Given the description of an element on the screen output the (x, y) to click on. 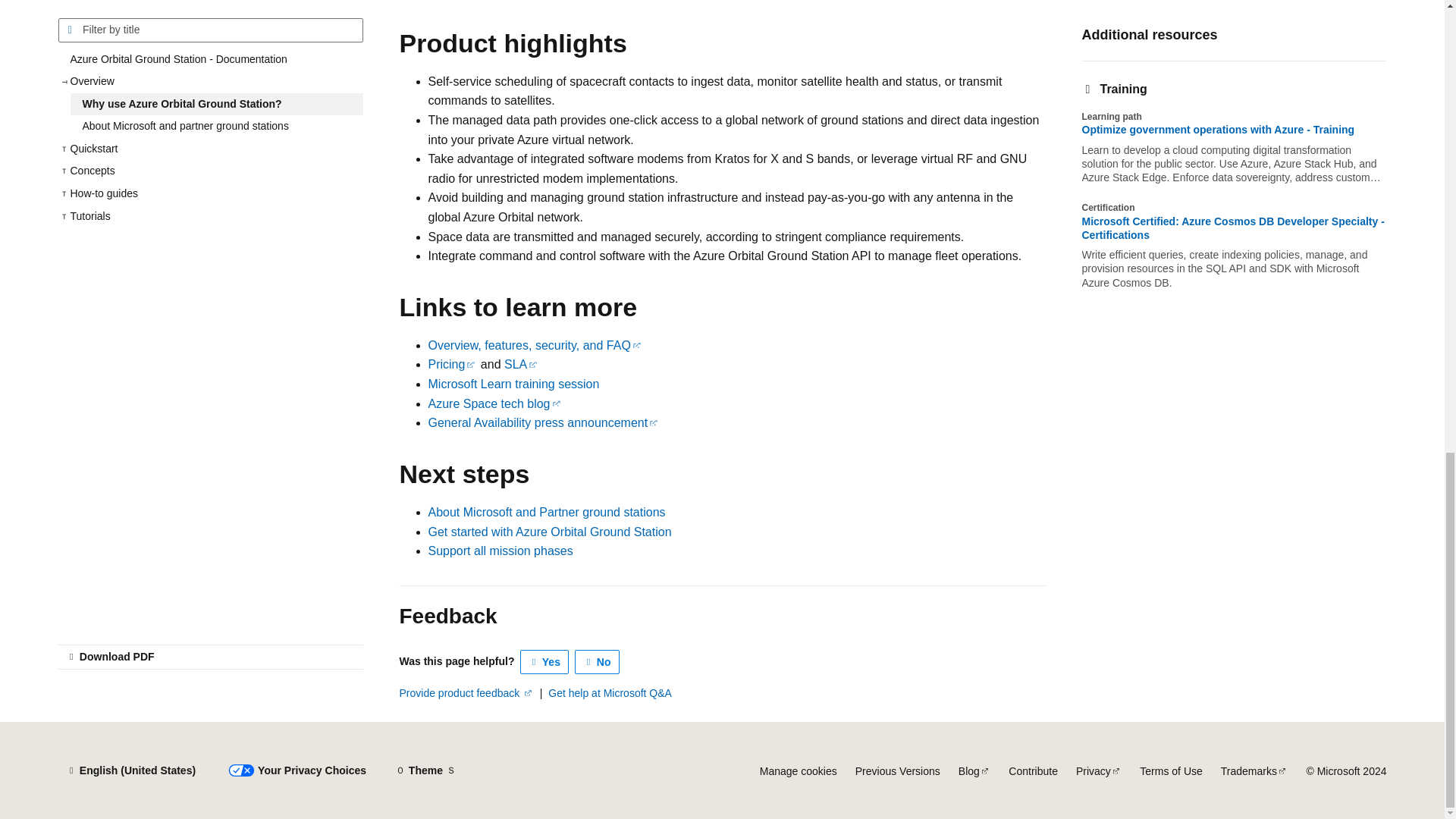
Theme (425, 770)
This article is helpful (544, 662)
This article is not helpful (597, 662)
